Given the description of an element on the screen output the (x, y) to click on. 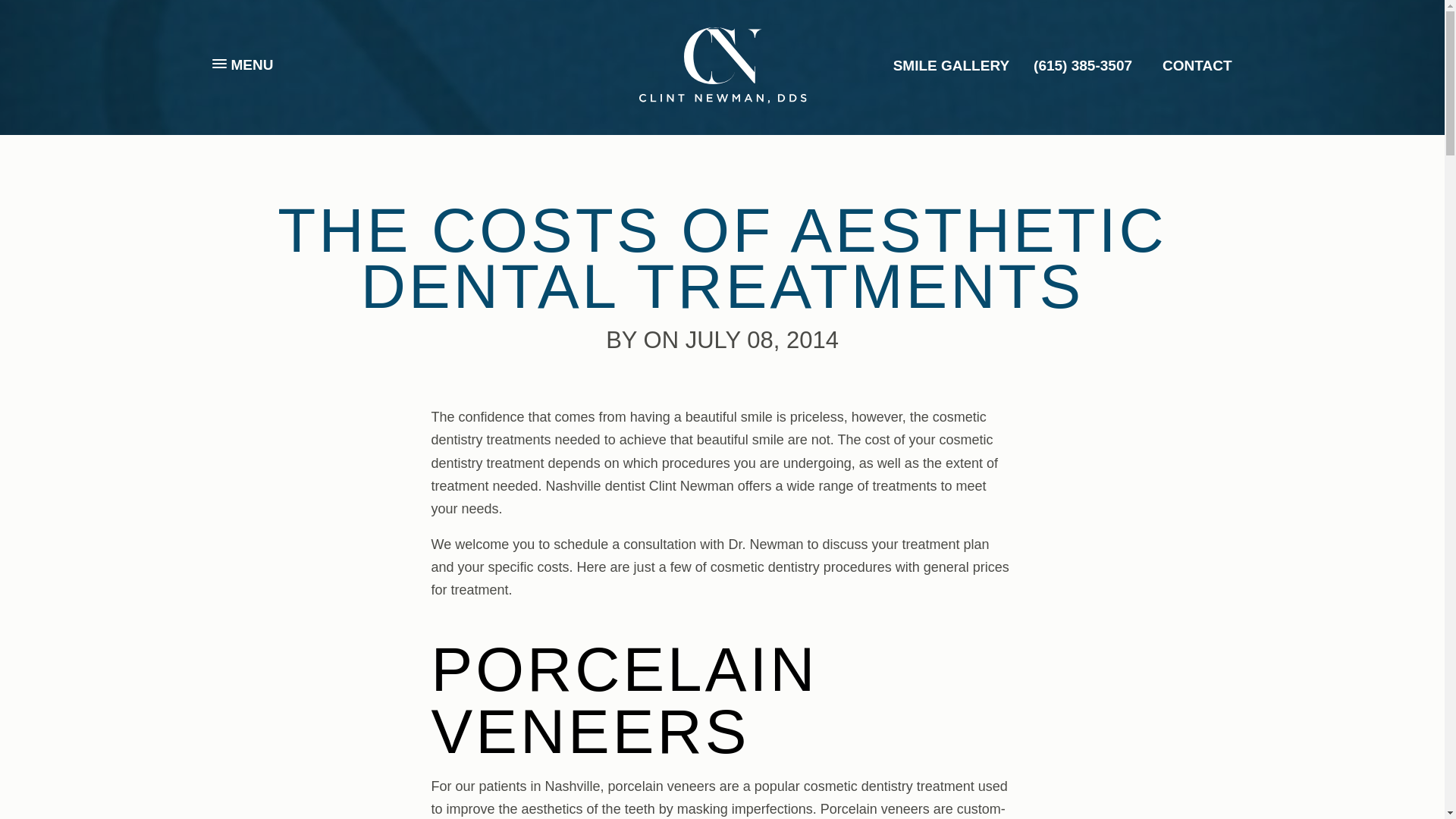
MENU (242, 64)
CONTACT (1196, 64)
SMILE GALLERY (951, 64)
